Given the description of an element on the screen output the (x, y) to click on. 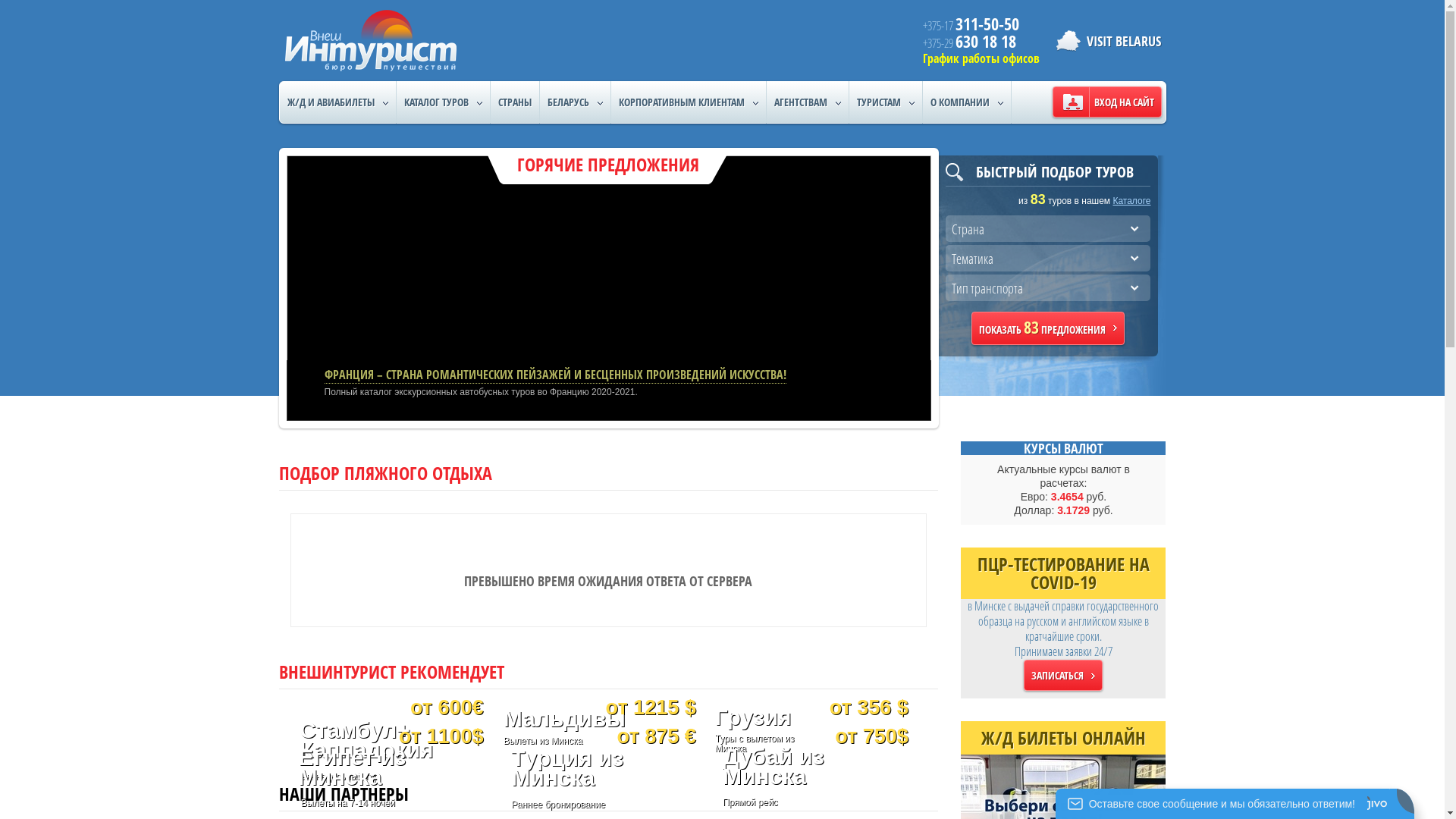
VISIT BELARUS Element type: text (1104, 40)
